Given the description of an element on the screen output the (x, y) to click on. 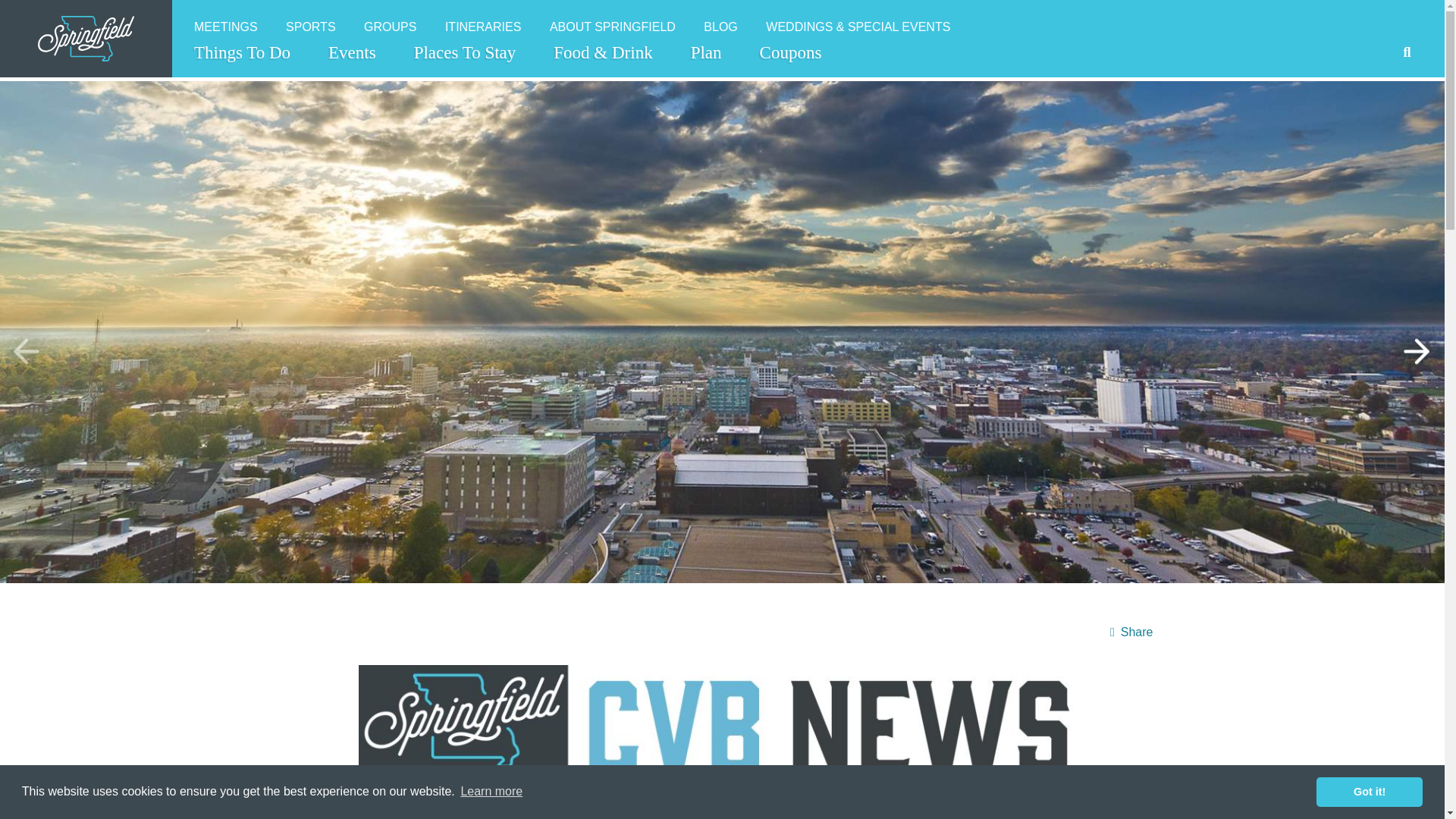
SPORTS (310, 27)
Events (352, 52)
GROUPS (389, 27)
BLOG (720, 27)
ABOUT SPRINGFIELD (612, 27)
Plan (706, 52)
Places To Stay (464, 52)
Got it! (1369, 791)
ITINERARIES (482, 27)
Learn more (491, 791)
Things To Do (242, 52)
MEETINGS (226, 27)
Coupons (790, 52)
